Given the description of an element on the screen output the (x, y) to click on. 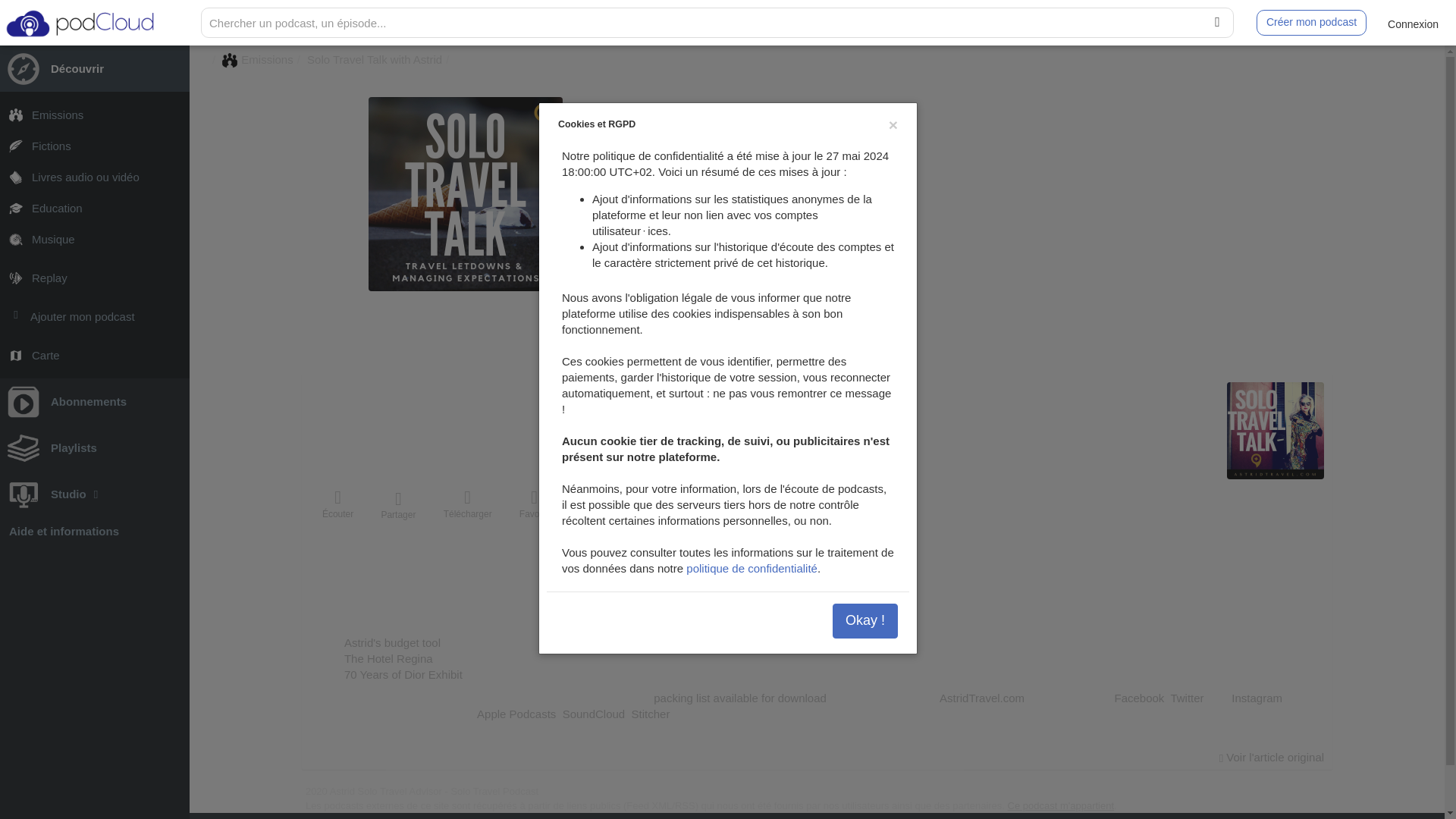
Playlists (94, 447)
iTunes (863, 197)
Contact (808, 197)
Bertrand (713, 234)
Abonnements (94, 401)
Studio (94, 493)
Replay (94, 277)
Connexion (1412, 22)
Musique (94, 238)
Education (94, 207)
Site Web (780, 197)
Fictions (94, 145)
Emissions (94, 114)
Ajouter mon podcast (94, 316)
Flux RSS (836, 197)
